Given the description of an element on the screen output the (x, y) to click on. 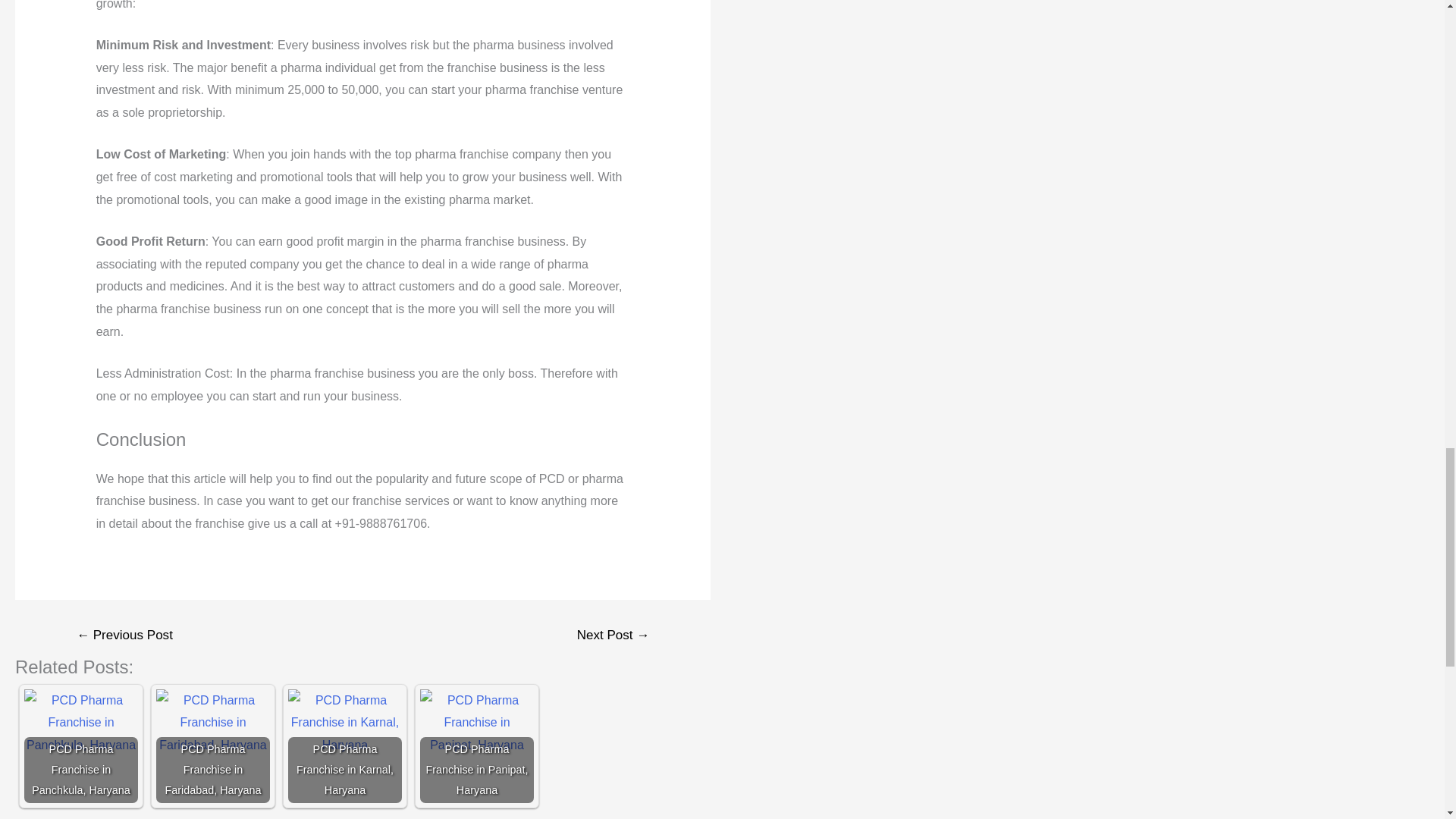
PCD Pharma Franchise in Panipat, Haryana (477, 721)
PCD Pharma Franchise in Faridabad, Haryana (212, 721)
PCD Pharma Franchise in Karnal, Haryana (344, 721)
PCD Pharma Franchise in Panchkula, Haryana (81, 721)
